Given the description of an element on the screen output the (x, y) to click on. 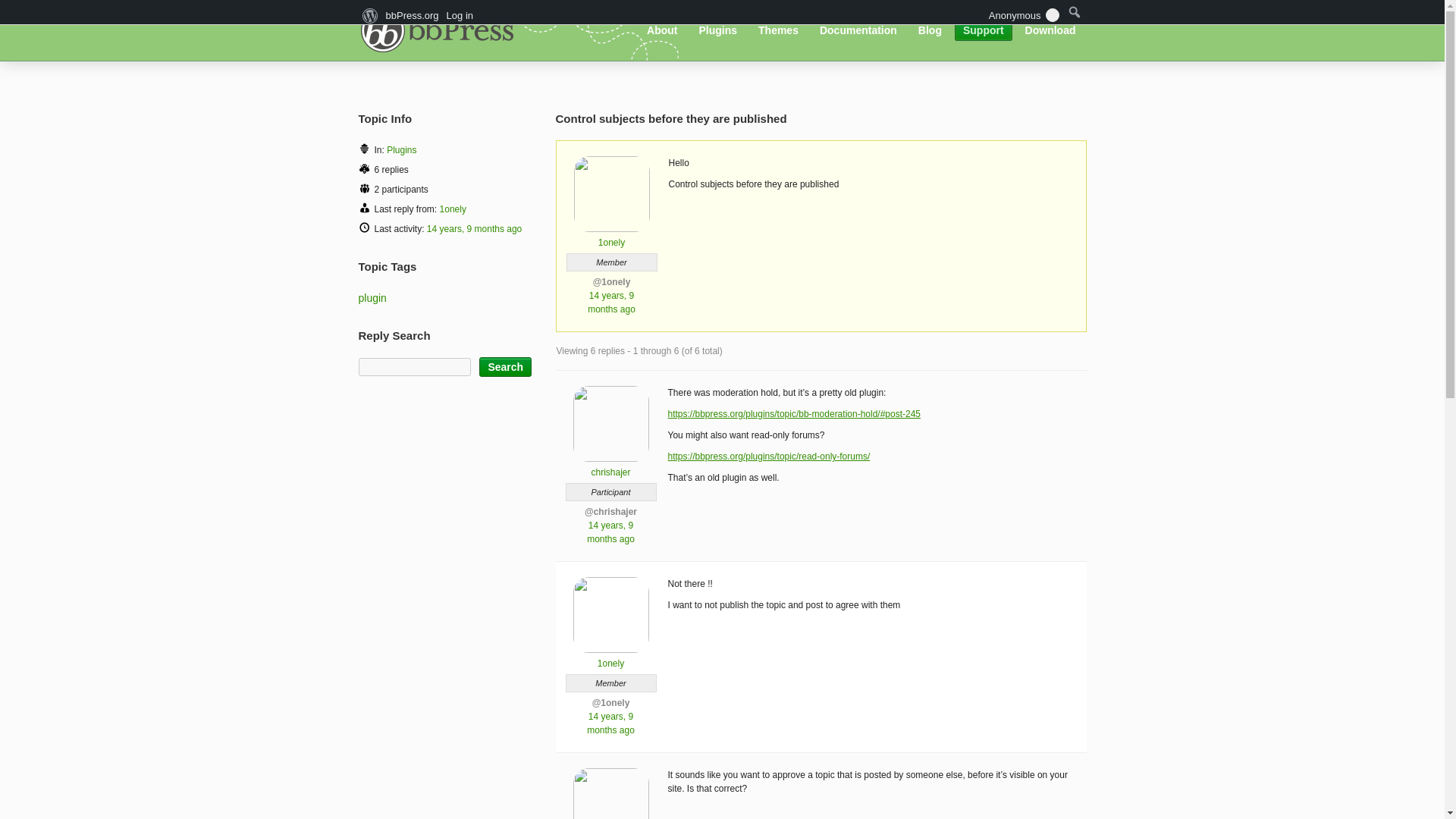
Support (983, 29)
Download (1050, 29)
14 years, 9 months ago (611, 302)
Themes (777, 29)
Plugins (401, 149)
14 years, 9 months ago (610, 723)
Documentation (857, 29)
Search (505, 366)
14 years, 9 months ago (473, 228)
14 years, 9 months ago (610, 532)
Search (505, 366)
chrishajer (609, 466)
plugin (371, 297)
1onely (609, 657)
Blog (930, 29)
